Given the description of an element on the screen output the (x, y) to click on. 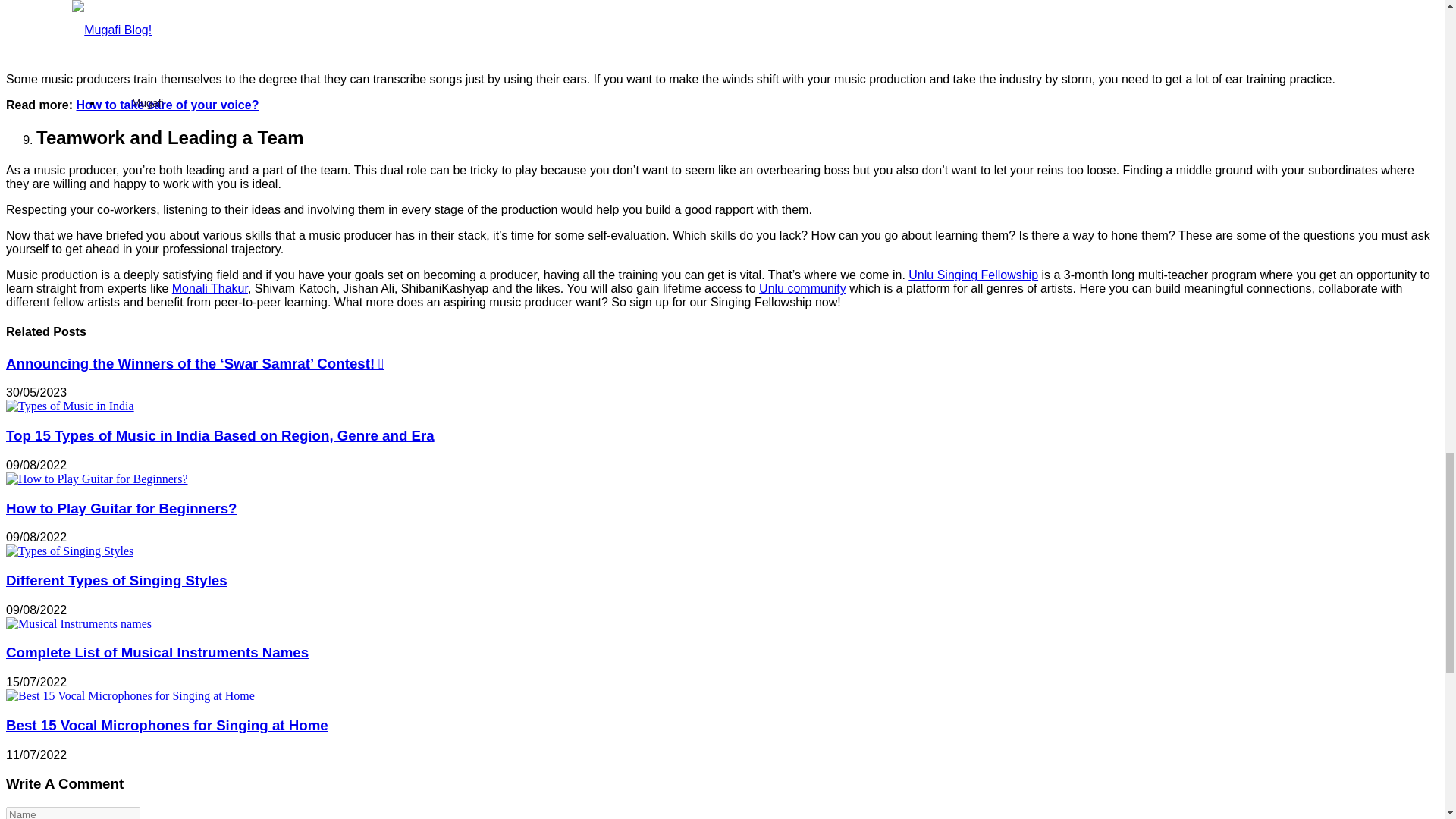
Different Types of Singing Styles (69, 550)
Best 15 Vocal Microphones for Singing at Home (167, 725)
Monali Thakur (209, 287)
How to take care of your voice? (167, 104)
Complete List of Musical Instruments Names (156, 652)
Unlu community (801, 287)
Unlu Singing Fellowship (973, 274)
Best 15 Vocal Microphones for Singing at Home (129, 695)
Complete List of Musical Instruments Names (78, 623)
Complete List of Musical Instruments Names (78, 623)
How to Play Guitar for Beginners? (96, 478)
Different Types of Singing Styles (116, 580)
Different Types of Singing Styles (69, 550)
